Given the description of an element on the screen output the (x, y) to click on. 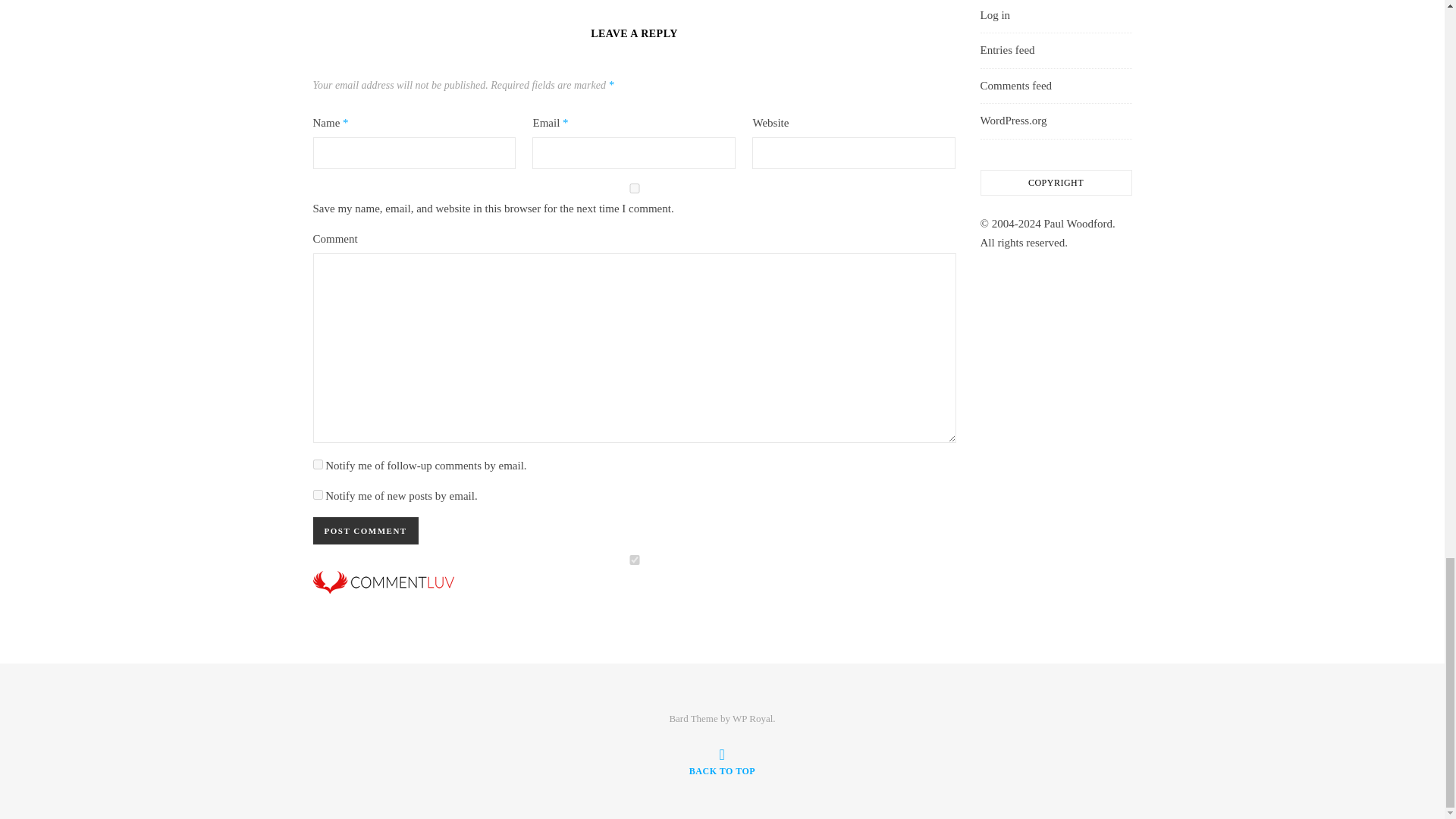
yes (634, 188)
Post Comment (365, 530)
on (634, 560)
BACK TO TOP (722, 761)
subscribe (317, 494)
CommentLuv is enabled (634, 589)
Post Comment (365, 530)
subscribe (317, 464)
